Given the description of an element on the screen output the (x, y) to click on. 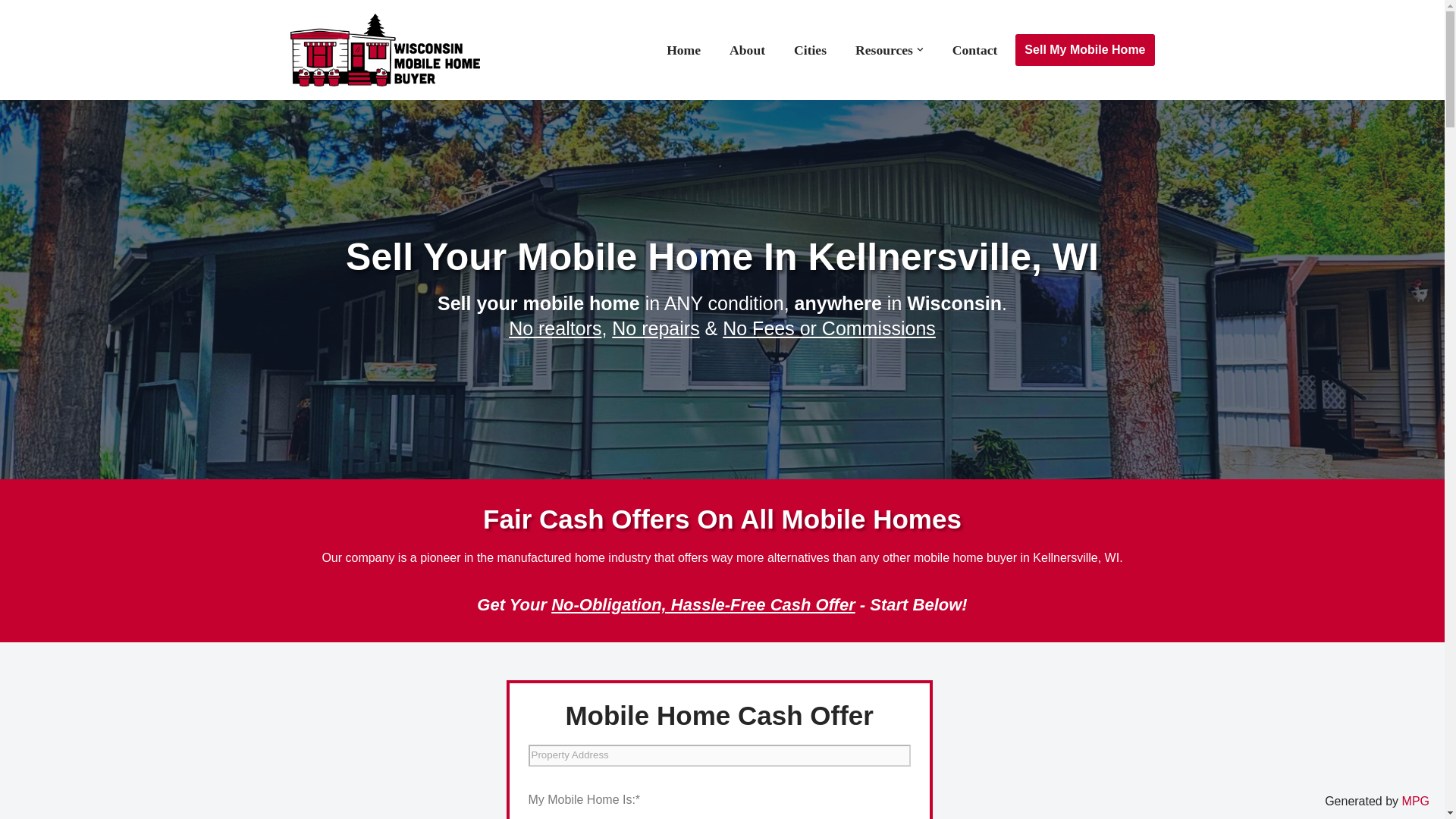
Resources (884, 49)
Sell My Mobile Home (1084, 50)
Contact (974, 49)
About (747, 49)
Home (683, 49)
Cities (810, 49)
Skip to content (11, 31)
